Given the description of an element on the screen output the (x, y) to click on. 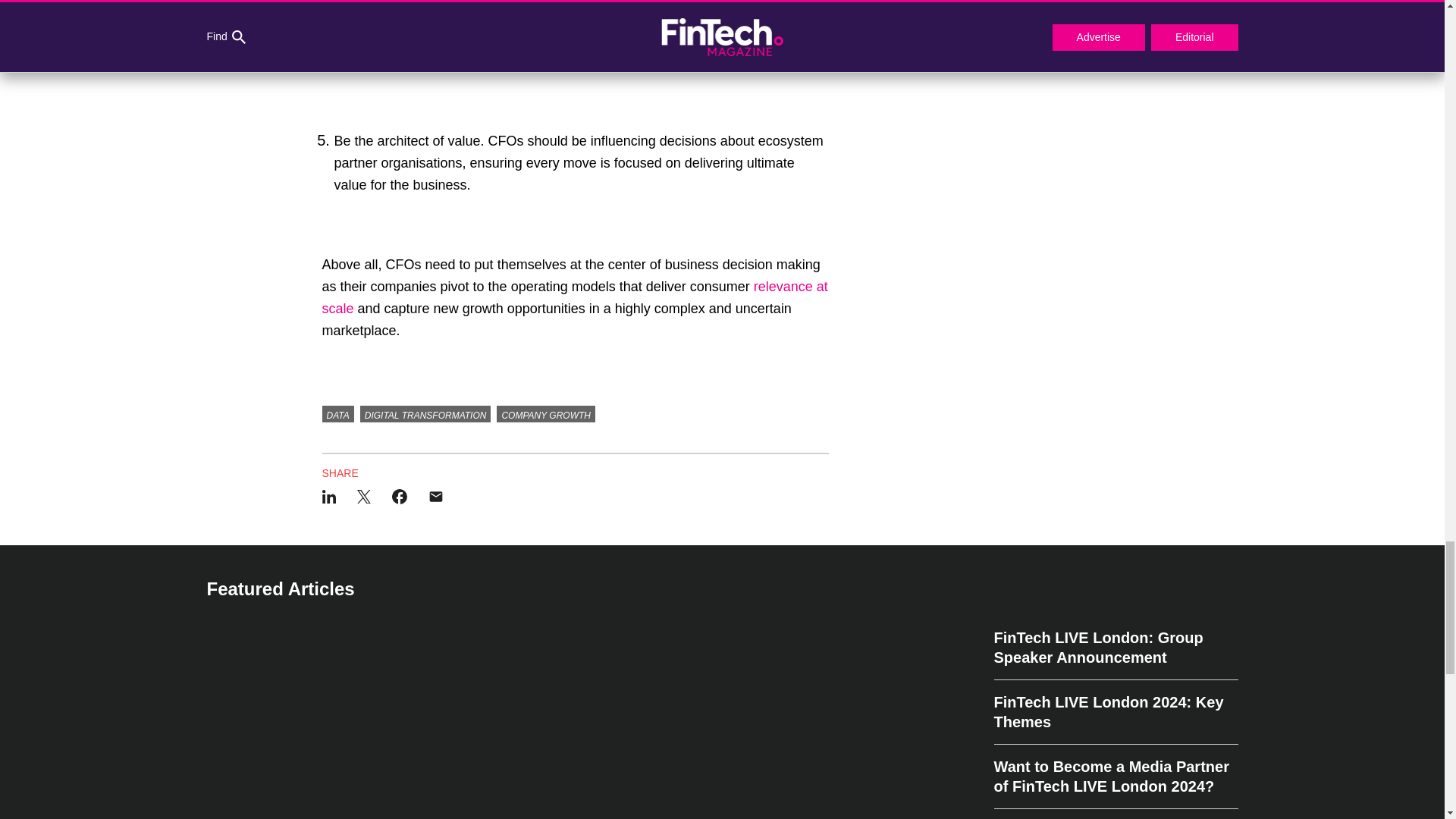
Want to Become a Media Partner of FinTech LIVE London 2024? (1114, 776)
FinTech LIVE London 2024: Key Themes (1114, 712)
DIGITAL TRANSFORMATION (425, 413)
COMPANY GROWTH (545, 413)
FinTech LIVE London: Group Speaker Announcement (1114, 654)
FinTech LIVE London: Three New Speakers Onboard (1114, 814)
DATA (337, 413)
relevance at scale (574, 297)
